Given the description of an element on the screen output the (x, y) to click on. 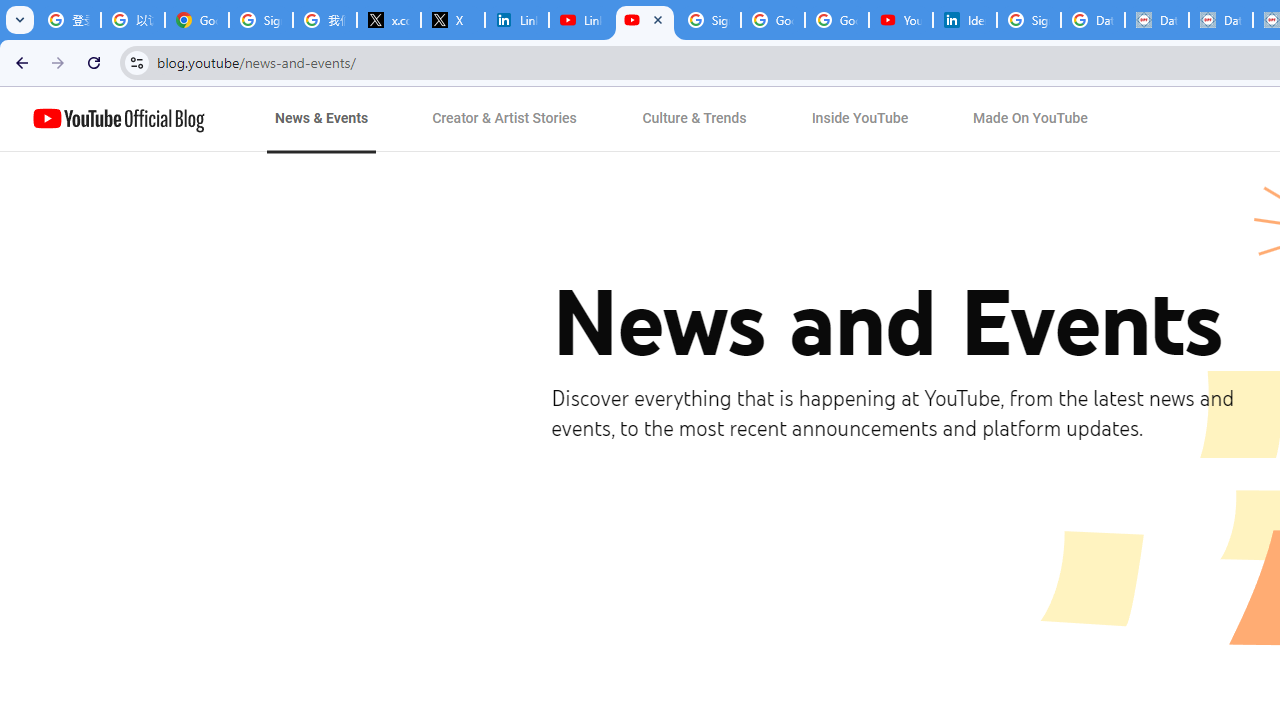
Inside YouTube (859, 119)
Data Privacy Framework (1157, 20)
Culture & Trends (694, 119)
Creator & Artist Stories (505, 119)
Sign in - Google Accounts (709, 20)
News & Events (321, 119)
Sign in - Google Accounts (261, 20)
